Given the description of an element on the screen output the (x, y) to click on. 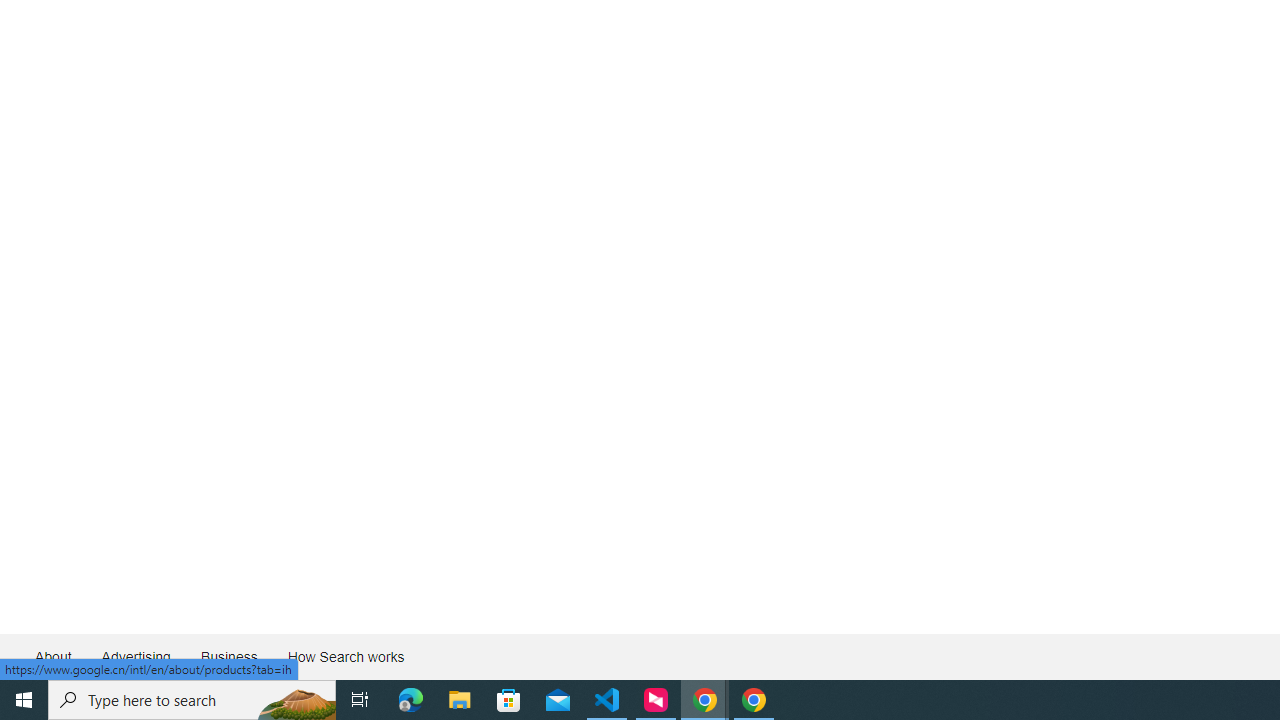
How Search works (345, 656)
Business (228, 656)
About (53, 656)
Advertising (135, 656)
